Given the description of an element on the screen output the (x, y) to click on. 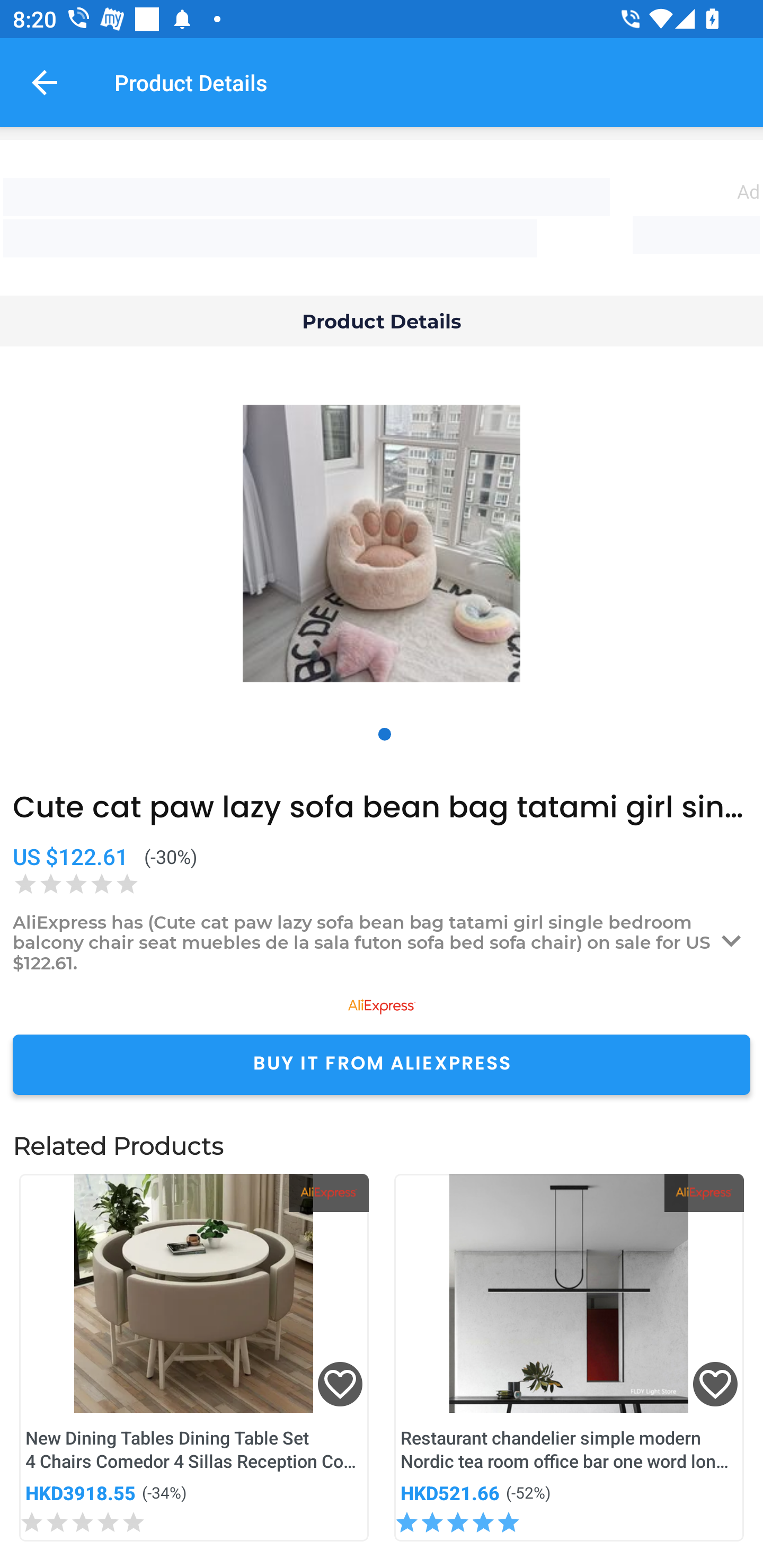
Navigate up (44, 82)
BUY IT FROM ALIEXPRESS (381, 1064)
